Given the description of an element on the screen output the (x, y) to click on. 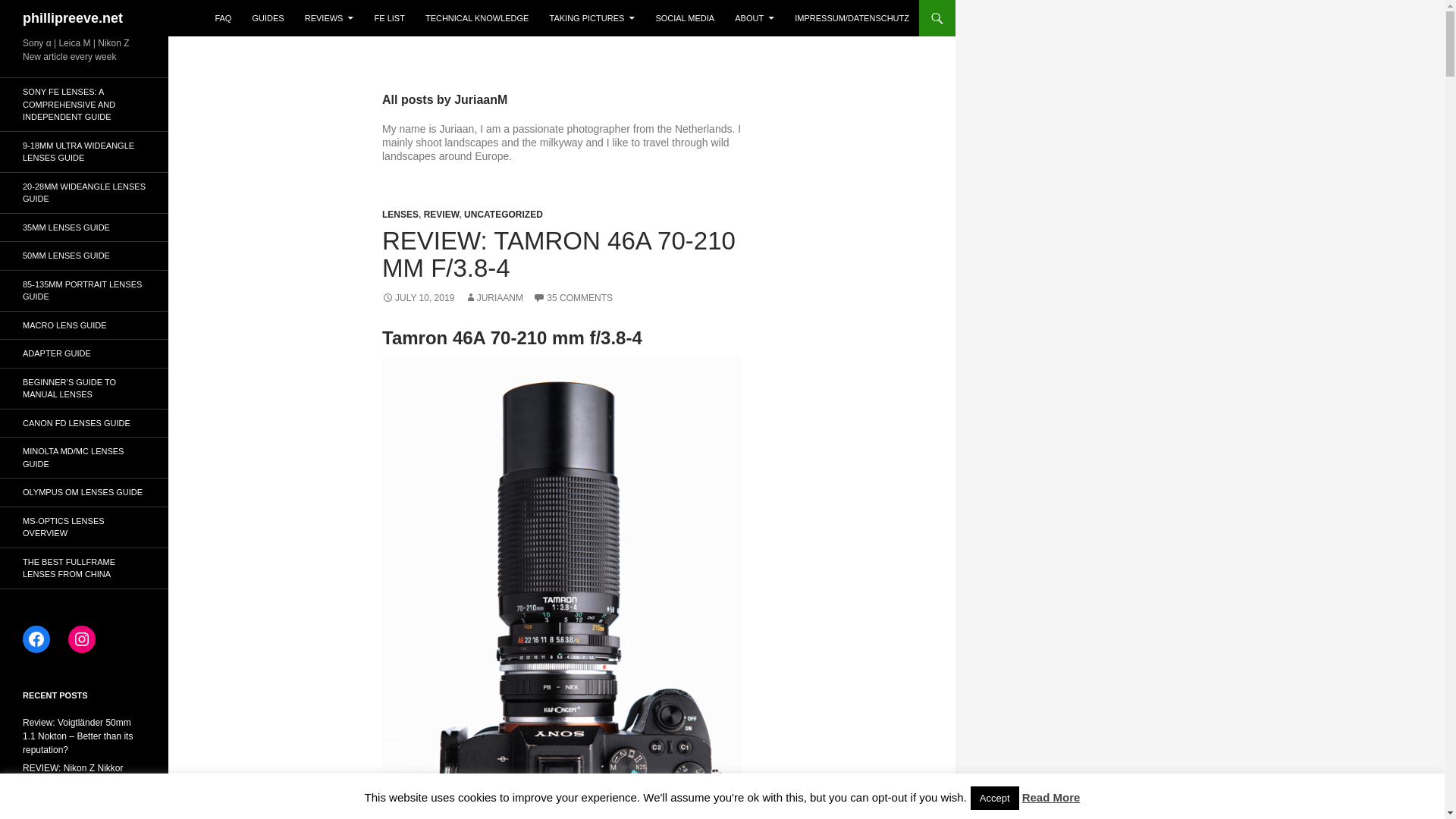
LENSES (400, 214)
phillipreeve.net (72, 18)
JURIAANM (493, 297)
TECHNICAL KNOWLEDGE (477, 18)
UNCATEGORIZED (503, 214)
ABOUT (754, 18)
REVIEW (441, 214)
JULY 10, 2019 (417, 297)
TAKING PICTURES (591, 18)
35 COMMENTS (572, 297)
GUIDES (267, 18)
FAQ (222, 18)
FE LIST (389, 18)
REVIEWS (328, 18)
SOCIAL MEDIA (684, 18)
